Given the description of an element on the screen output the (x, y) to click on. 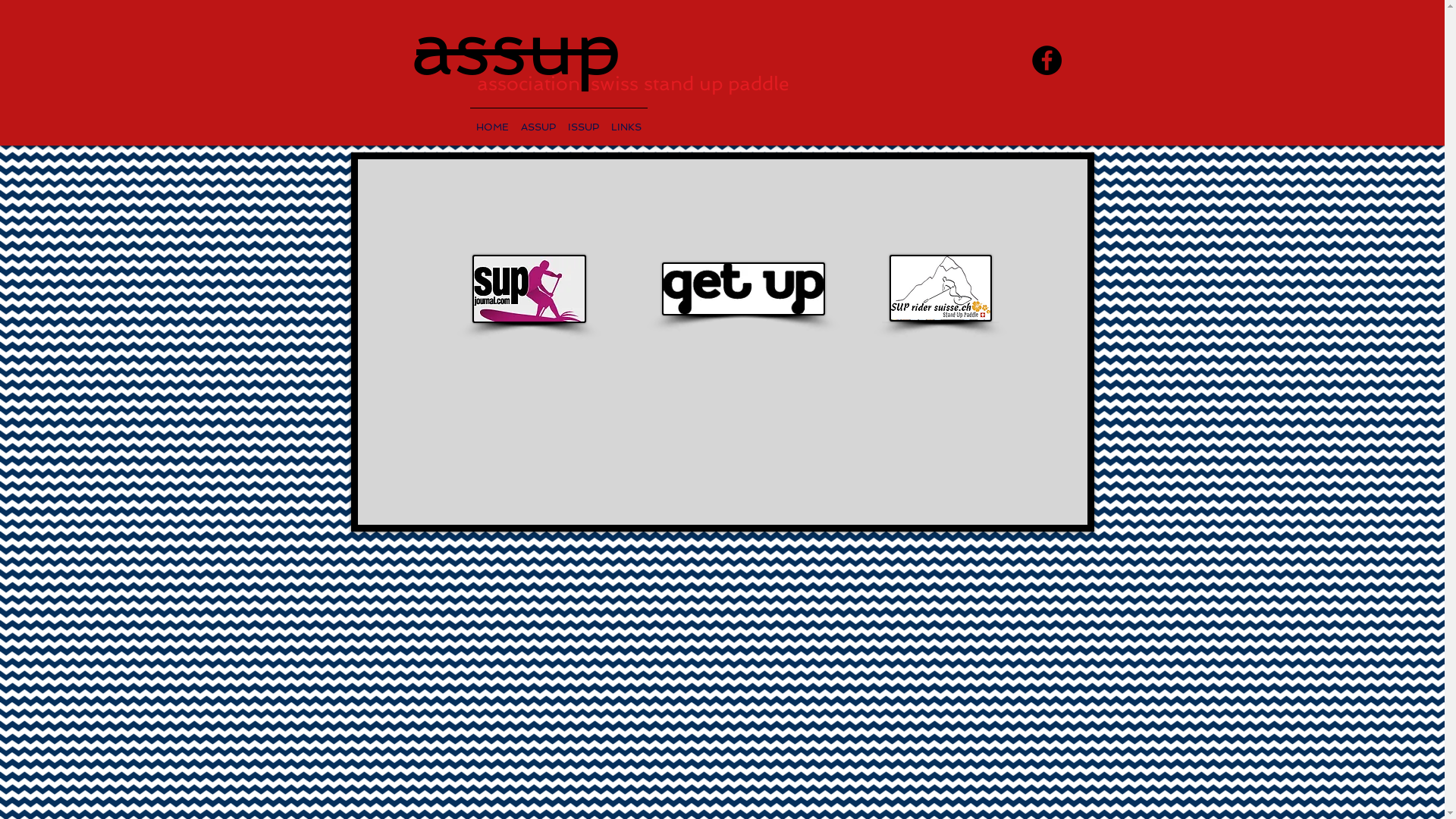
ASSUP Element type: text (537, 120)
LINKS Element type: text (626, 120)
ISSUP Element type: text (582, 120)
HOME Element type: text (492, 120)
